Given the description of an element on the screen output the (x, y) to click on. 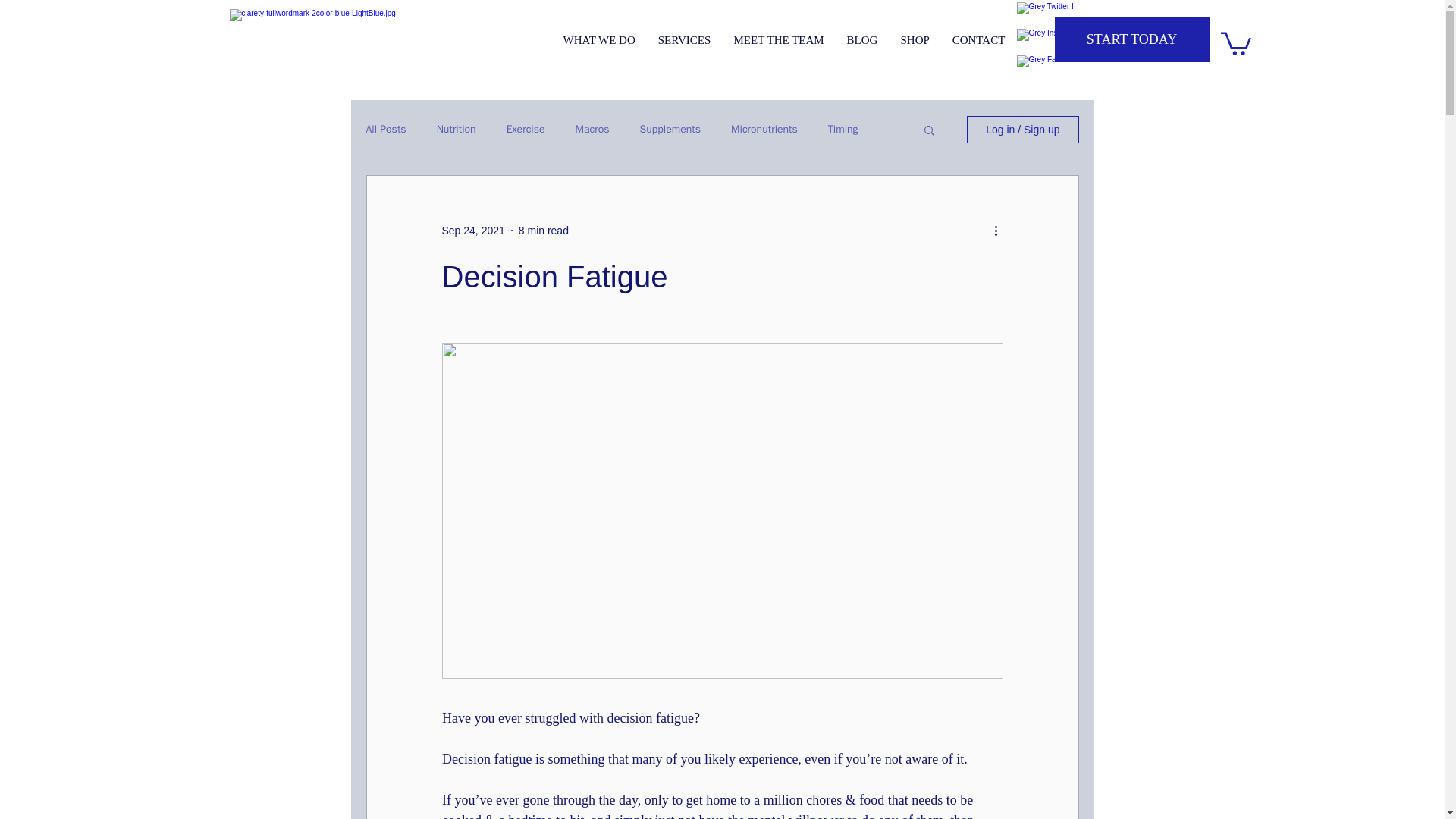
Supplements (670, 129)
MEET THE TEAM (778, 40)
8 min read (543, 230)
CONTACT (978, 40)
SERVICES (684, 40)
Timing (843, 129)
Exercise (525, 129)
WHAT WE DO (598, 40)
SHOP (914, 40)
Sep 24, 2021 (472, 230)
